Given the description of an element on the screen output the (x, y) to click on. 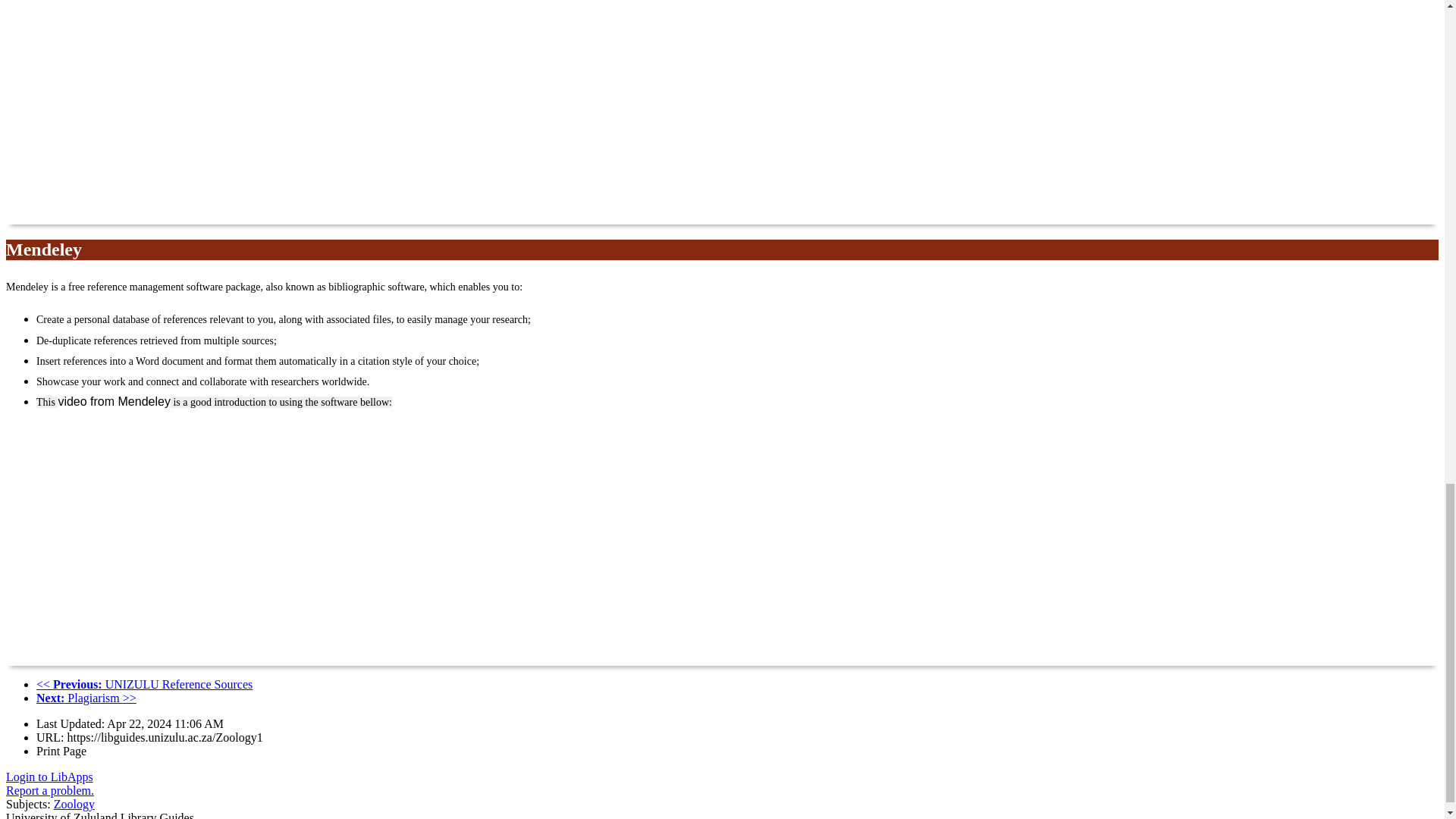
Zoology (73, 803)
YouTube video player (217, 110)
Login to LibApps (49, 776)
YouTube video player (217, 543)
Print Page (60, 750)
Report a problem. (49, 789)
